Given the description of an element on the screen output the (x, y) to click on. 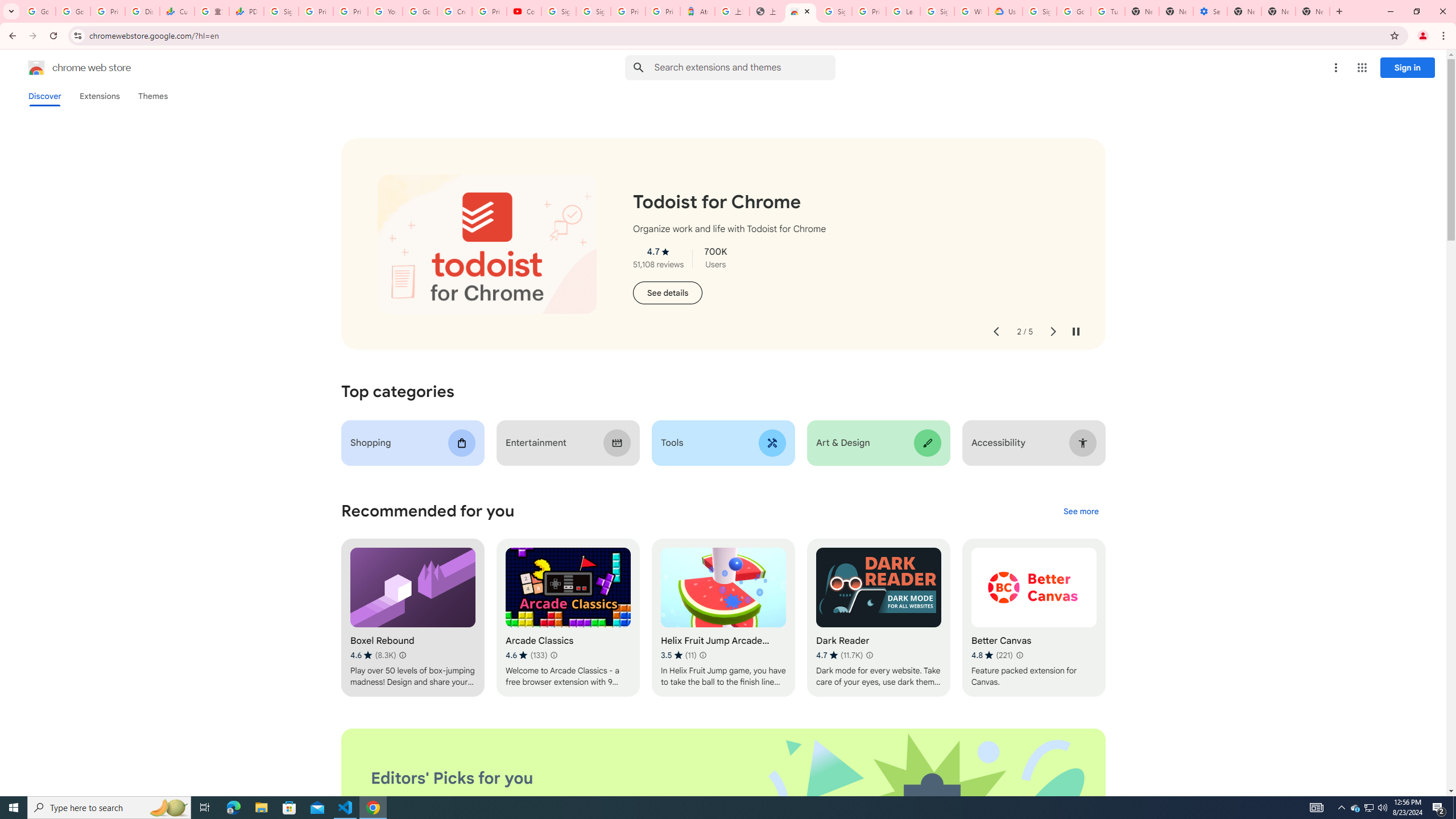
Average rating 4.6 out of 5 stars. 133 ratings. (526, 655)
Learn more about results and reviews "Boxel Rebound" (402, 655)
Next slide (1052, 331)
Atour Hotel - Google hotels (697, 11)
Create your Google Account (454, 11)
Sign in - Google Accounts (834, 11)
PDD Holdings Inc - ADR (PDD) Price & News - Google Finance (246, 11)
More options menu (1335, 67)
Previous slide (995, 331)
Average rating 4.8 out of 5 stars. 221 ratings. (992, 655)
